Given the description of an element on the screen output the (x, y) to click on. 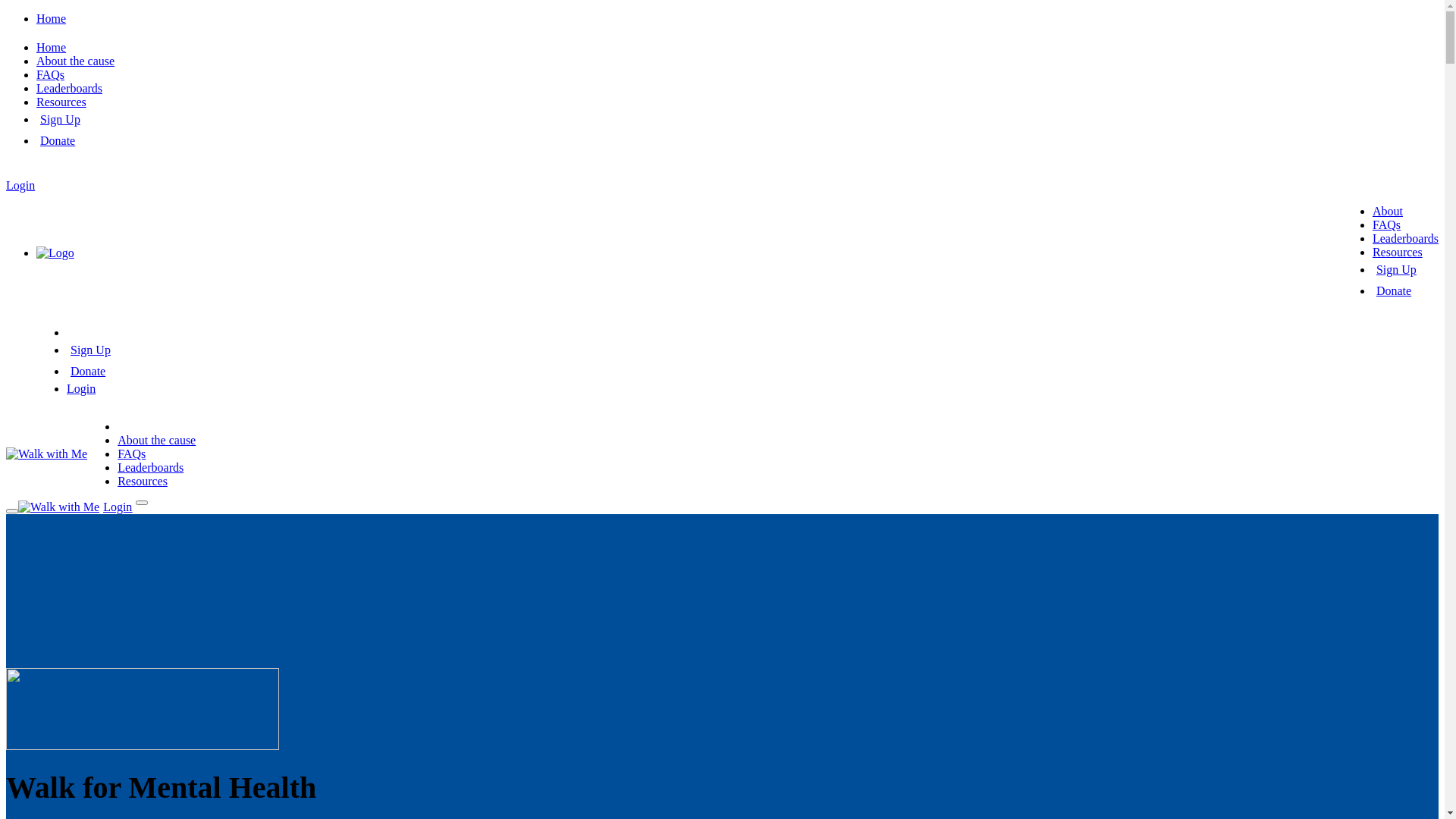
Donate Element type: text (57, 140)
Home Element type: text (50, 18)
About the cause Element type: text (75, 60)
Login Element type: text (117, 506)
Sign Up Element type: text (60, 118)
Leaderboards Element type: text (69, 87)
About the cause Element type: text (156, 439)
Donate Element type: text (1393, 290)
Login Element type: text (20, 184)
Resources Element type: text (142, 480)
FAQs Element type: text (1386, 224)
Donate Element type: text (87, 370)
FAQs Element type: text (50, 74)
Resources Element type: text (61, 101)
Logo Element type: hover (55, 252)
Leaderboards Element type: text (1405, 238)
Home Element type: text (50, 46)
FAQs Element type: text (131, 453)
Sign Up Element type: text (90, 349)
Resources Element type: text (1397, 251)
Login Element type: text (80, 388)
Leaderboards Element type: text (150, 467)
About Element type: text (1387, 210)
Sign Up Element type: text (1396, 269)
